Given the description of an element on the screen output the (x, y) to click on. 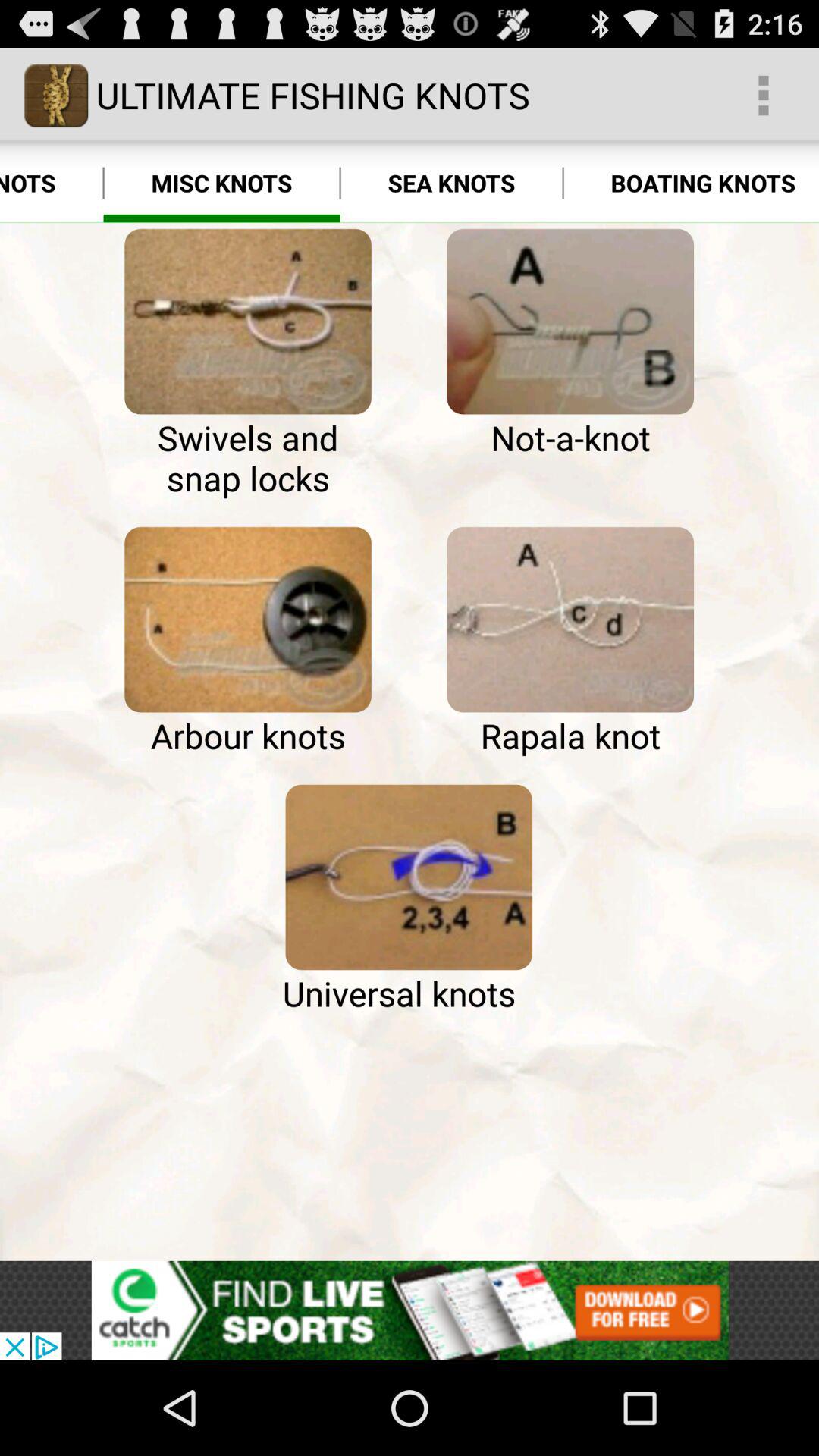
show arbour knots (247, 619)
